Given the description of an element on the screen output the (x, y) to click on. 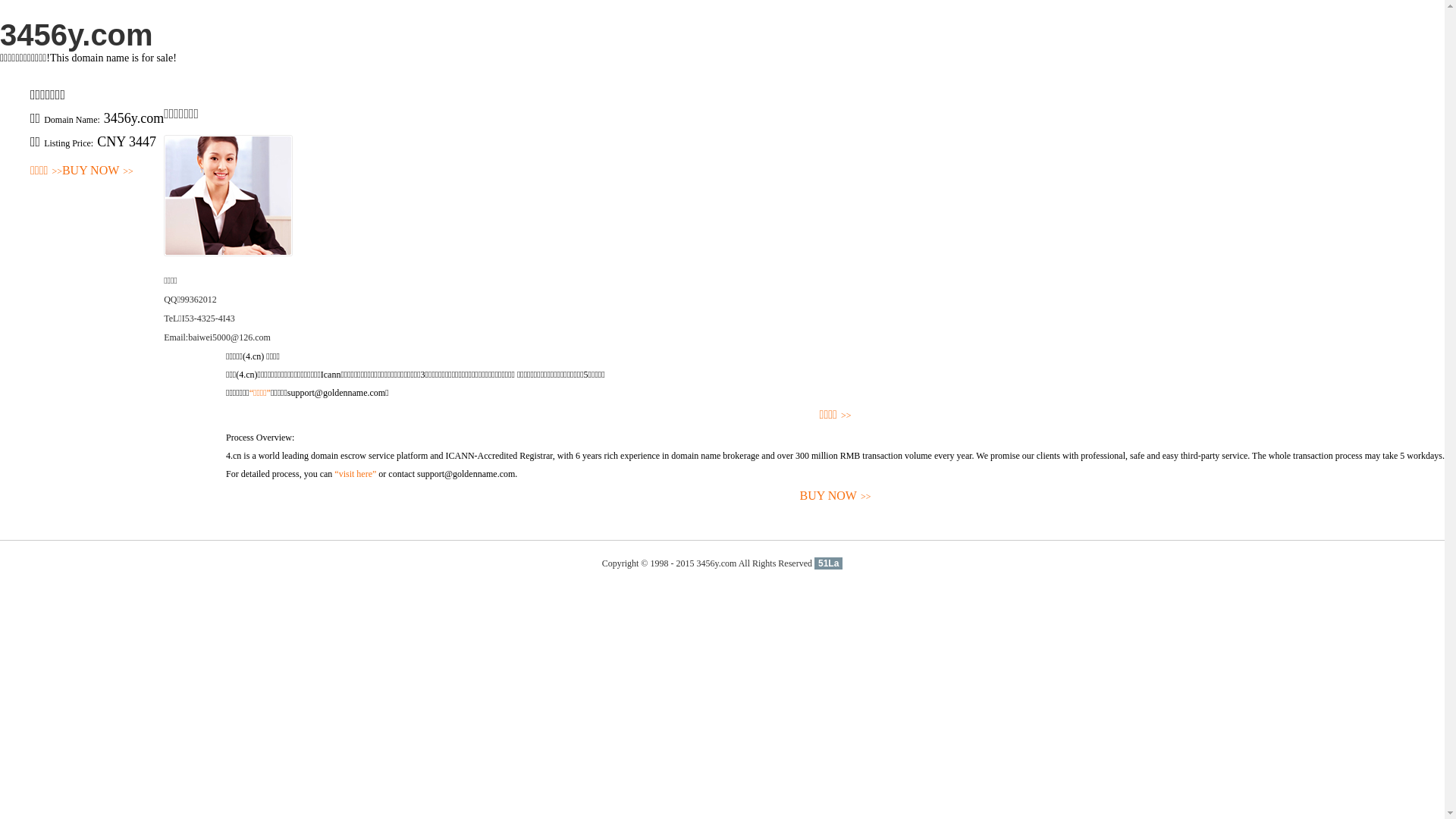
BUY NOW>> Element type: text (834, 496)
BUY NOW>> Element type: text (97, 170)
51La Element type: text (828, 563)
